Given the description of an element on the screen output the (x, y) to click on. 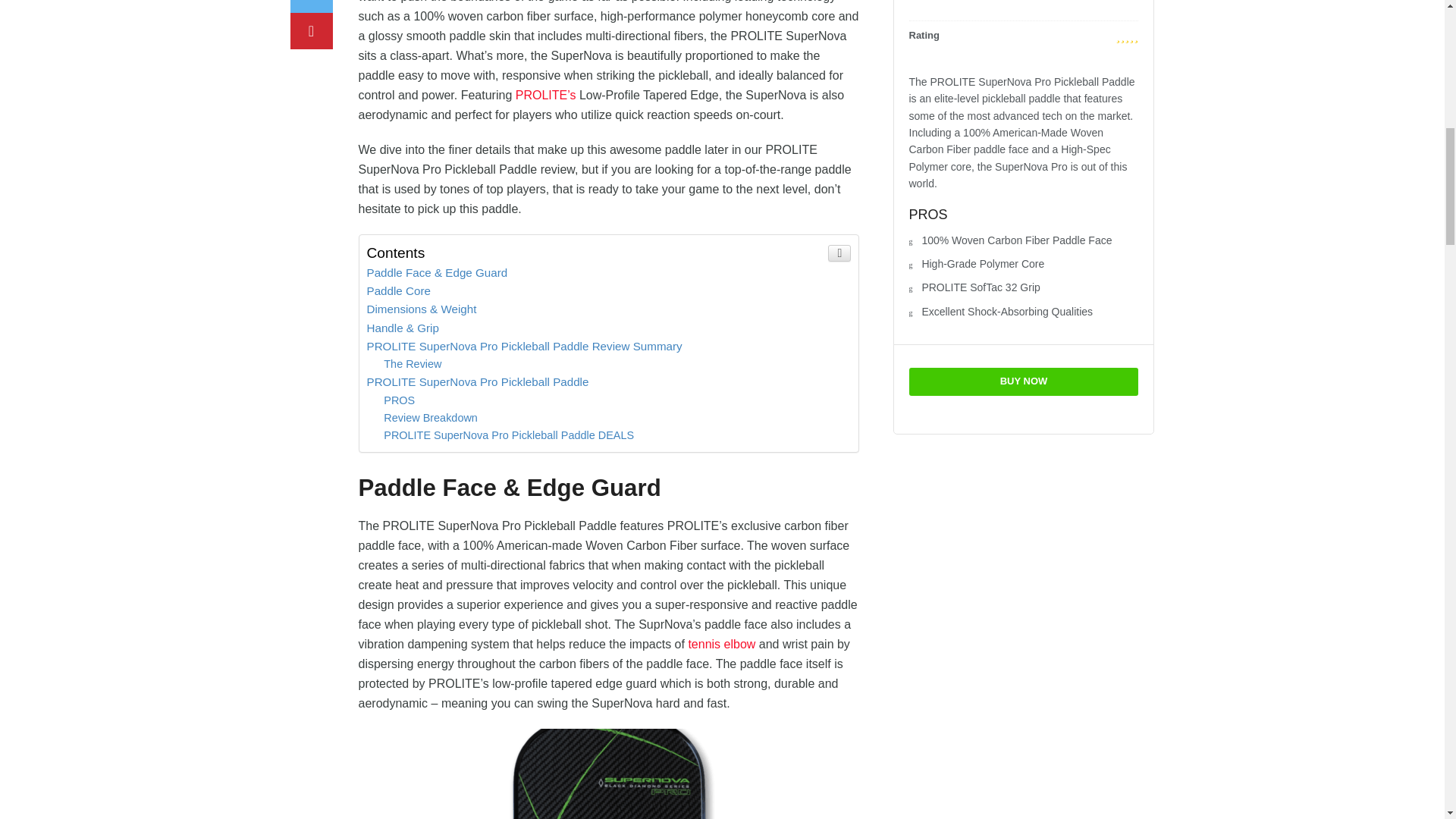
PROLITE SuperNova Pro Pickleball Paddle DEALS (508, 435)
Pro-Lite Prolite Supernova Black Diamond Pickleball Paddle (608, 773)
PROLITE SuperNova Pro Pickleball Paddle Review Summary (524, 345)
PROS (399, 399)
The Review (412, 363)
Paddle Core (398, 290)
Review Breakdown (430, 417)
